Given the description of an element on the screen output the (x, y) to click on. 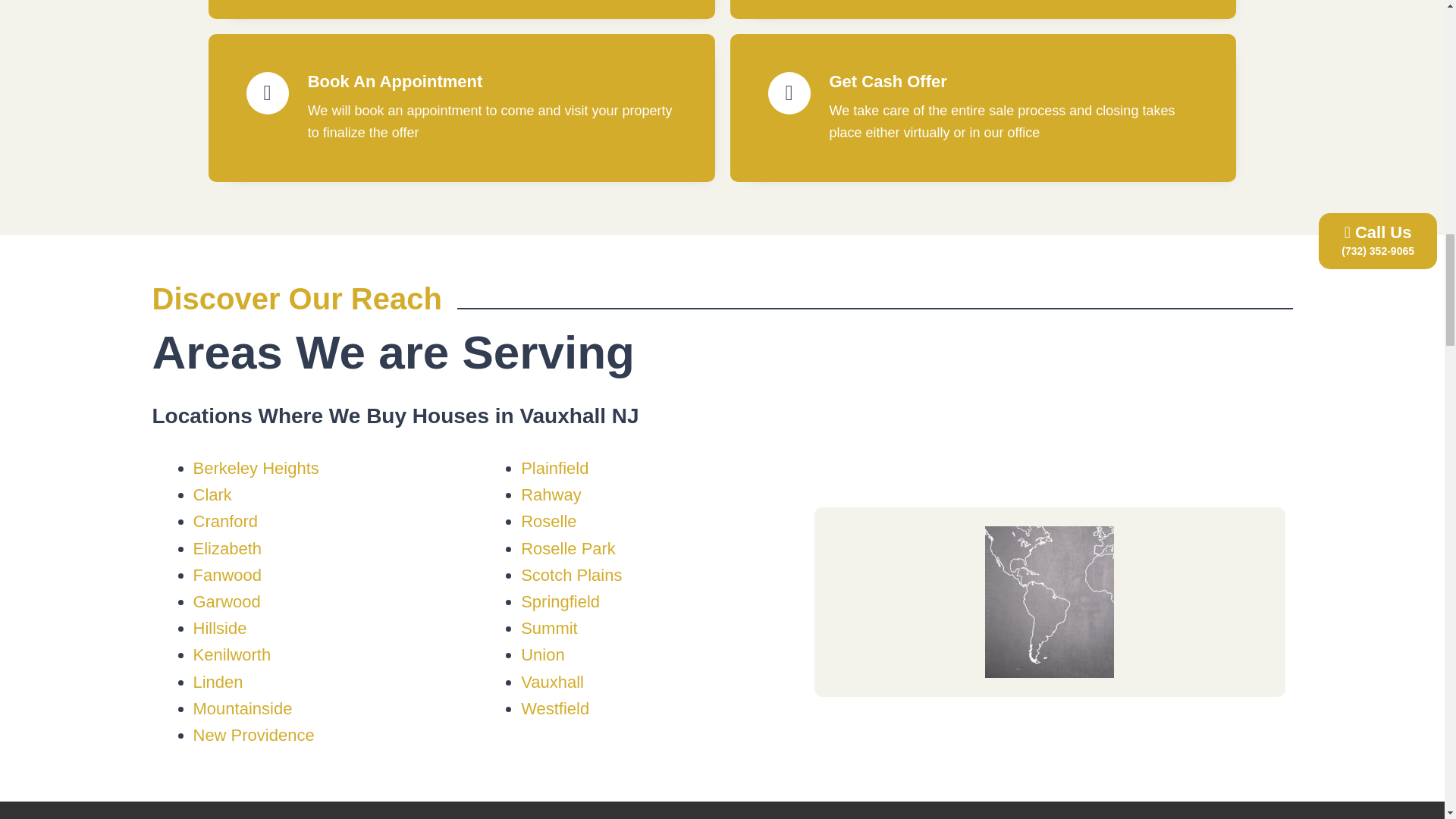
New Providence (253, 734)
Clark (211, 494)
Rahway (550, 494)
Fanwood (227, 574)
Berkeley Heights (255, 467)
Cranford (224, 520)
Linden (217, 681)
Hillside (219, 628)
Garwood (226, 601)
Elizabeth (227, 547)
Kenilworth (231, 654)
Roselle (548, 520)
Mountainside (242, 708)
Plainfield (554, 467)
